Given the description of an element on the screen output the (x, y) to click on. 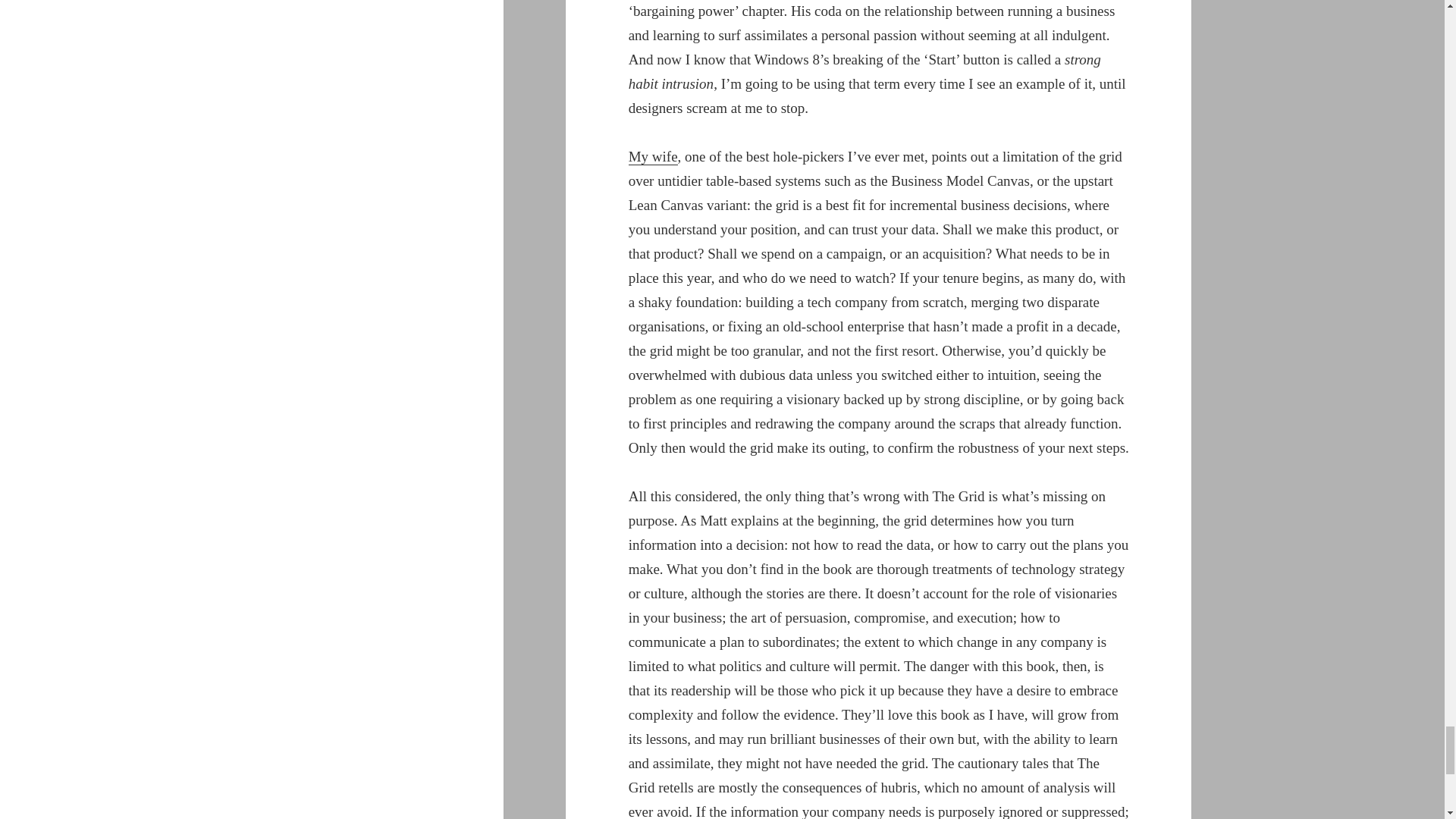
My wife (653, 156)
